Given the description of an element on the screen output the (x, y) to click on. 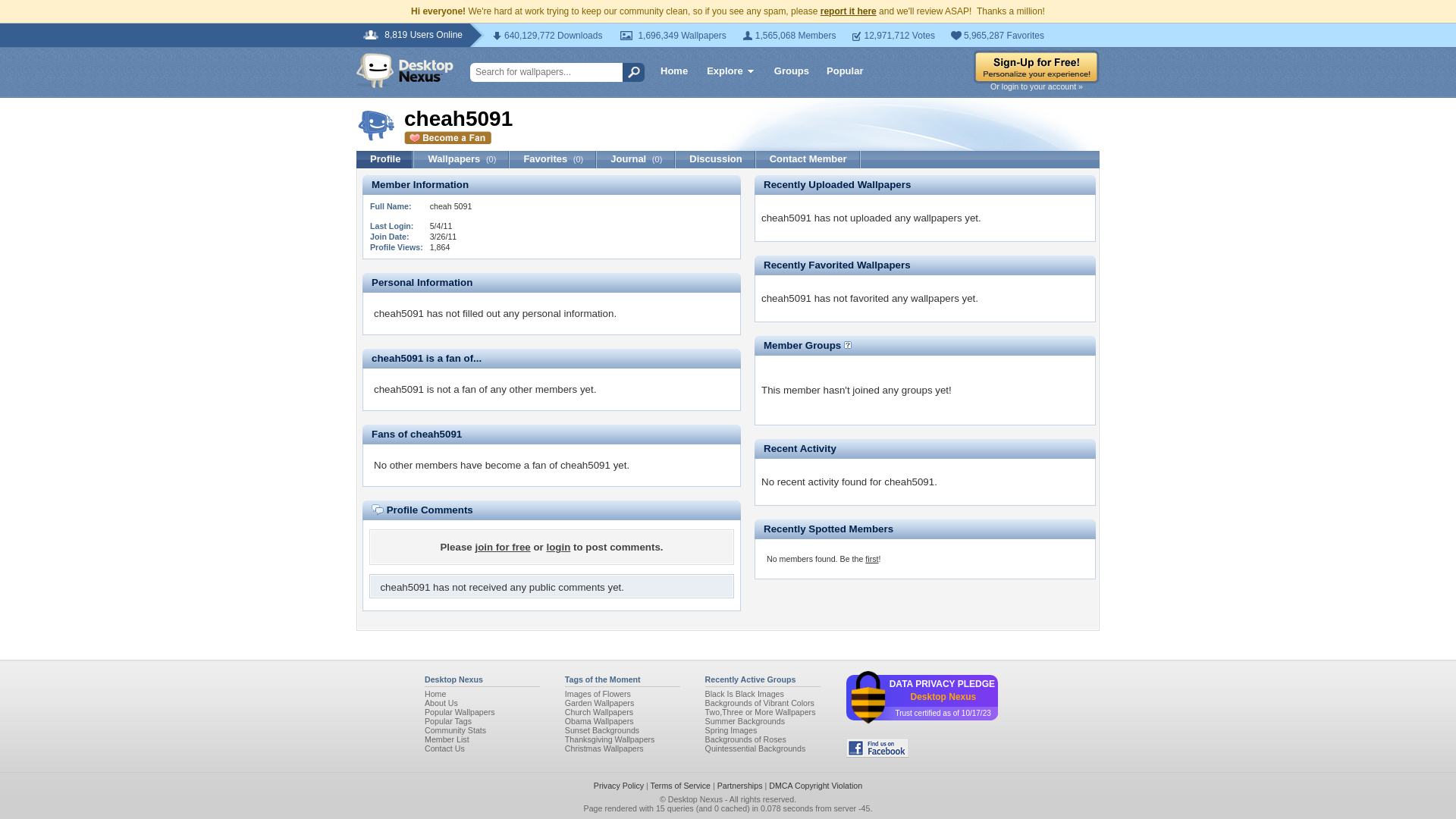
login (558, 546)
About Us (441, 702)
first (870, 558)
This member hasn't joined any (831, 401)
Home (435, 693)
Profile (384, 159)
Desktop Nexus Wallpapers (404, 70)
groups (917, 389)
Explore (730, 72)
Home (674, 70)
join for free (501, 546)
Popular Wallpapers (460, 711)
Discussion (715, 159)
Desktop Nexus Wallpapers (404, 70)
About Us (441, 702)
